Given the description of an element on the screen output the (x, y) to click on. 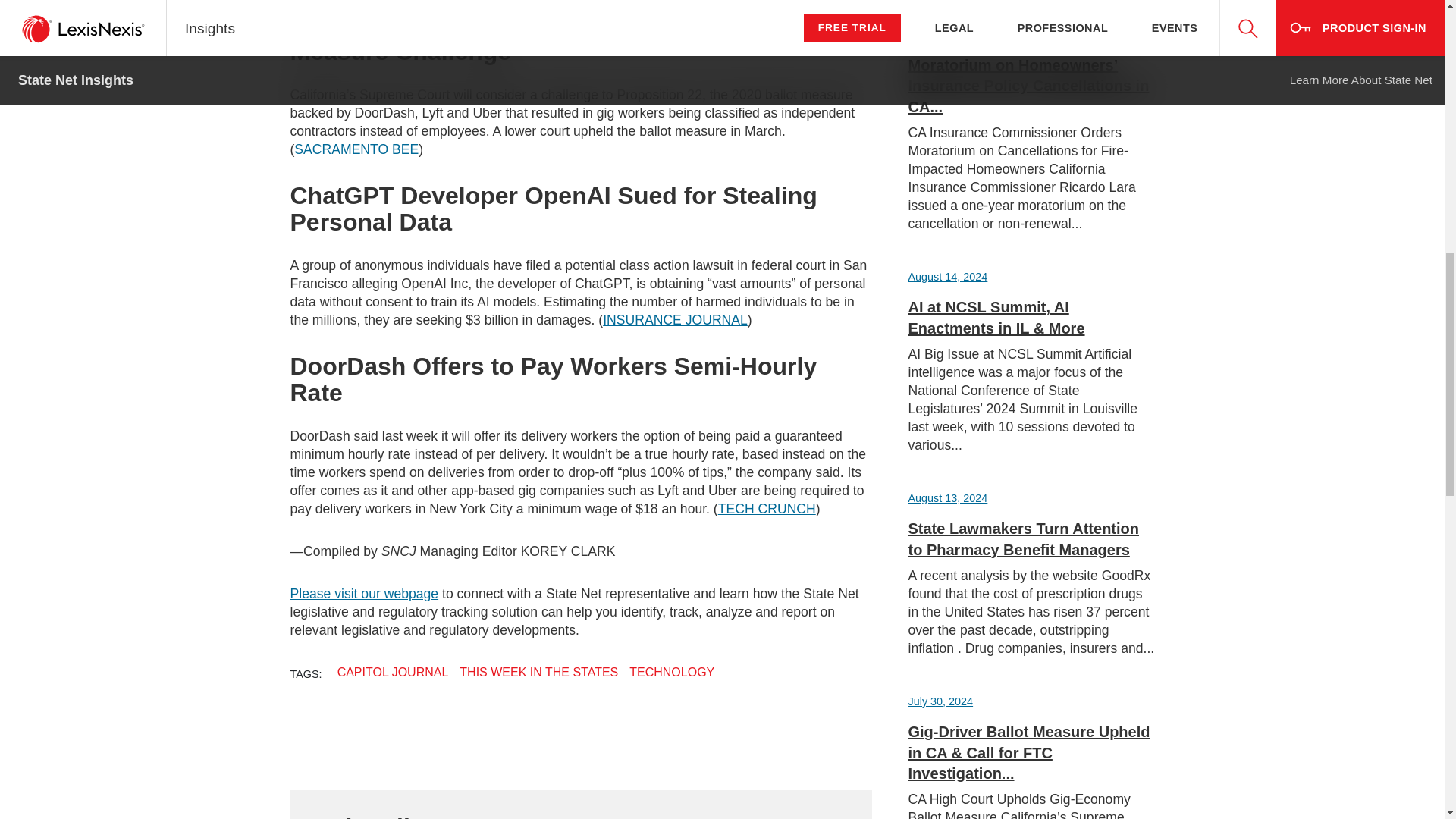
August 14, 2024 (948, 276)
State Lawmakers Turn Attention to Pharmacy Benefit Managers (1024, 538)
August 14, 2024 (948, 34)
July 30, 2024 (941, 701)
August 13, 2024 (948, 498)
